Given the description of an element on the screen output the (x, y) to click on. 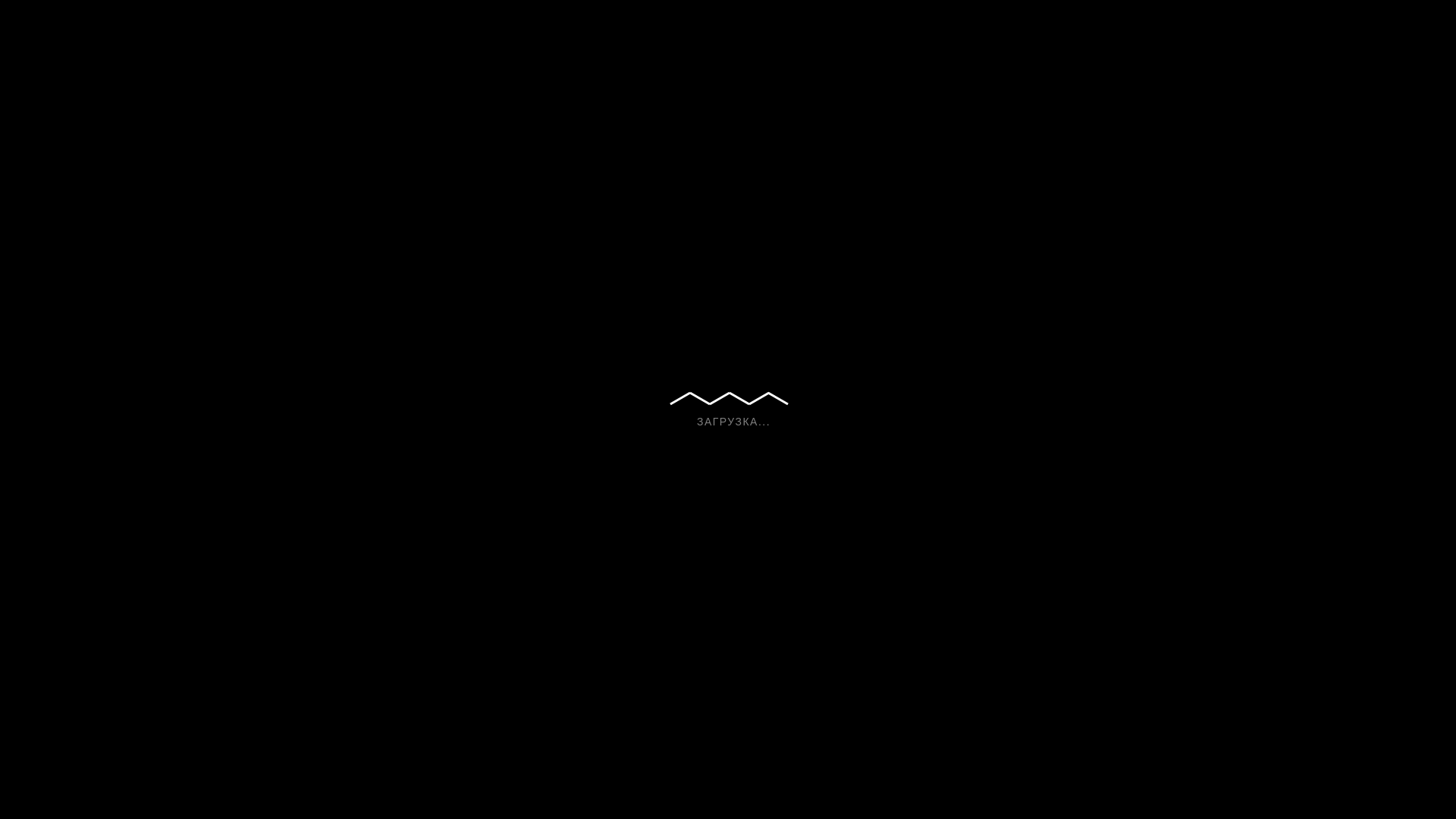
+375 29 610 13 78 Element type: text (423, 772)
e.dub@grandis.by Element type: text (571, 772)
